Given the description of an element on the screen output the (x, y) to click on. 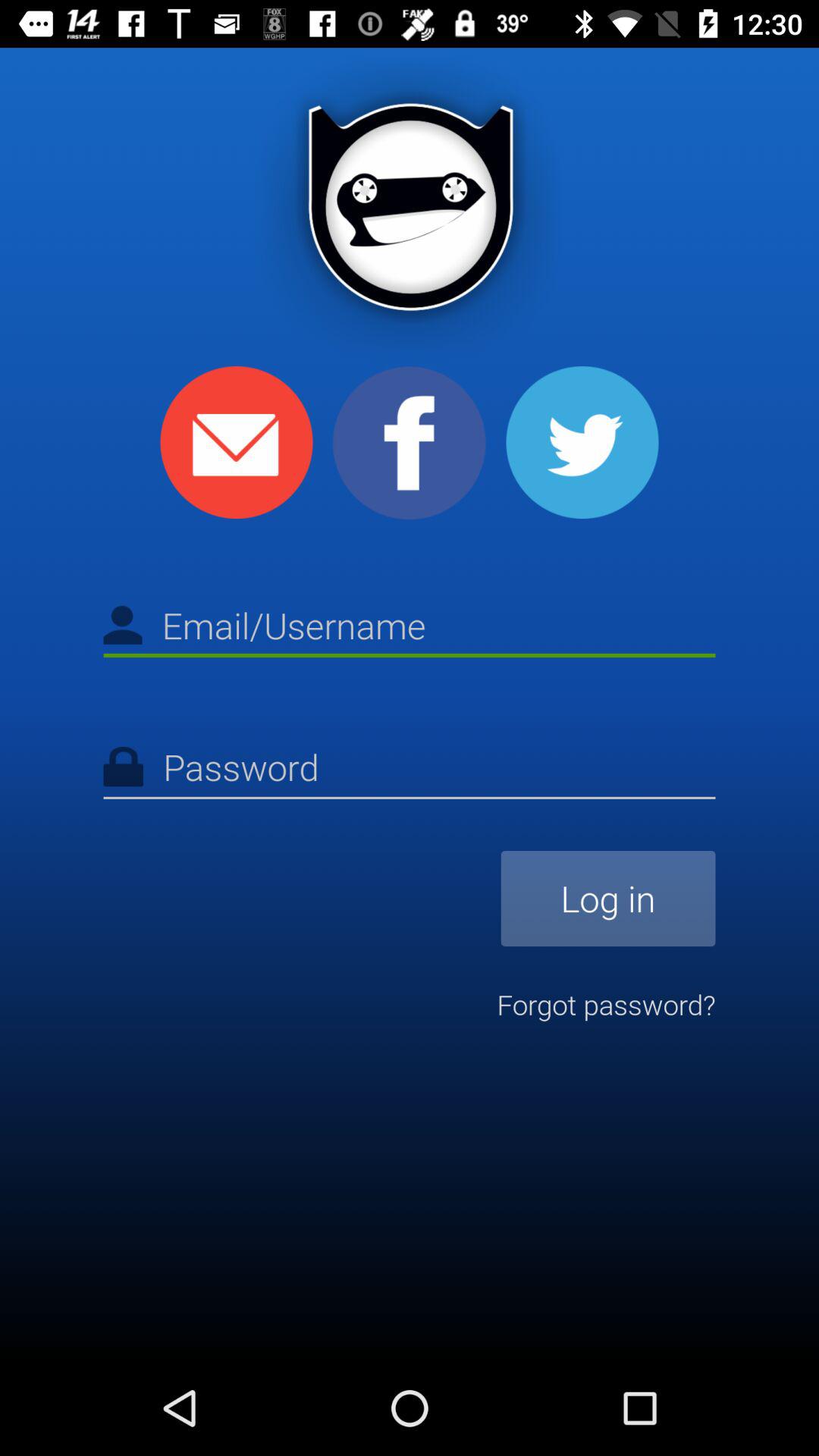
turn off the icon at the top right corner (582, 442)
